Given the description of an element on the screen output the (x, y) to click on. 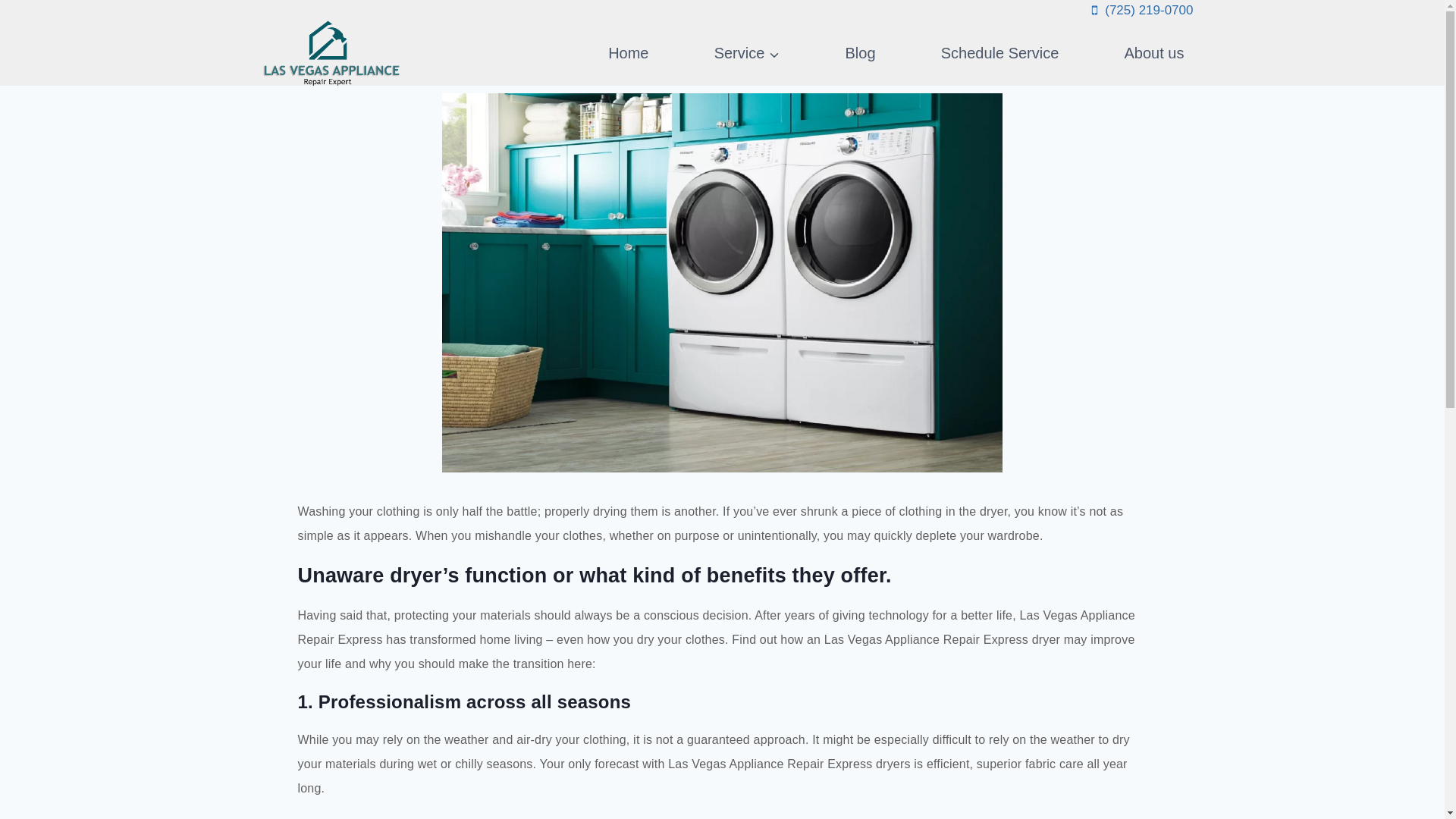
Schedule Service (999, 52)
Service (746, 52)
About us (1154, 52)
Home (628, 52)
Blog (860, 52)
